Given the description of an element on the screen output the (x, y) to click on. 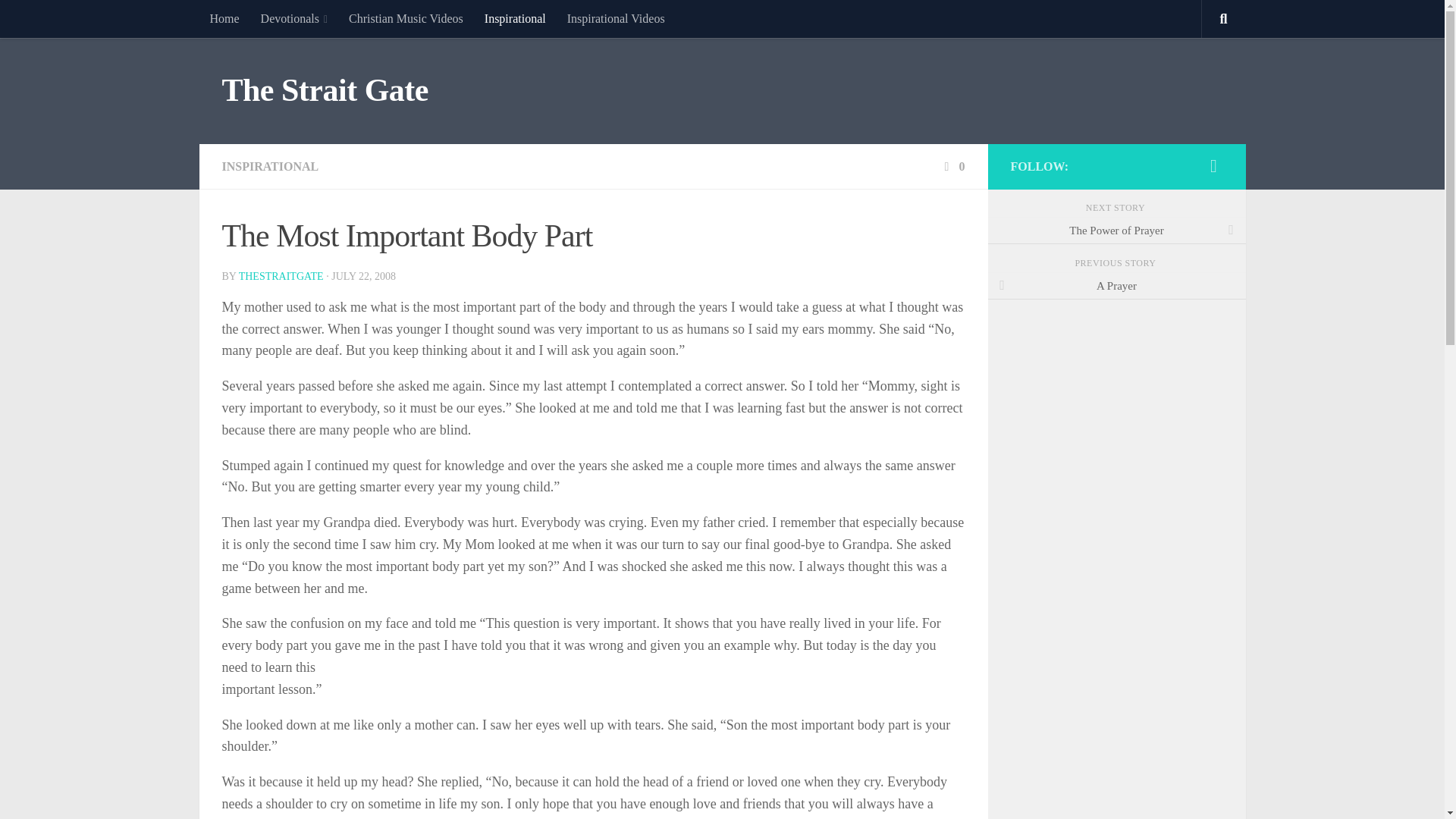
Skip to content (59, 20)
Christian Music Videos (405, 18)
Home (223, 18)
Inspirational (515, 18)
INSPIRATIONAL (269, 165)
The Strait Gate (324, 90)
Posts by TheStraitGate (280, 276)
Follow us on Facebook (1213, 166)
0 (951, 165)
Inspirational Videos (615, 18)
